Given the description of an element on the screen output the (x, y) to click on. 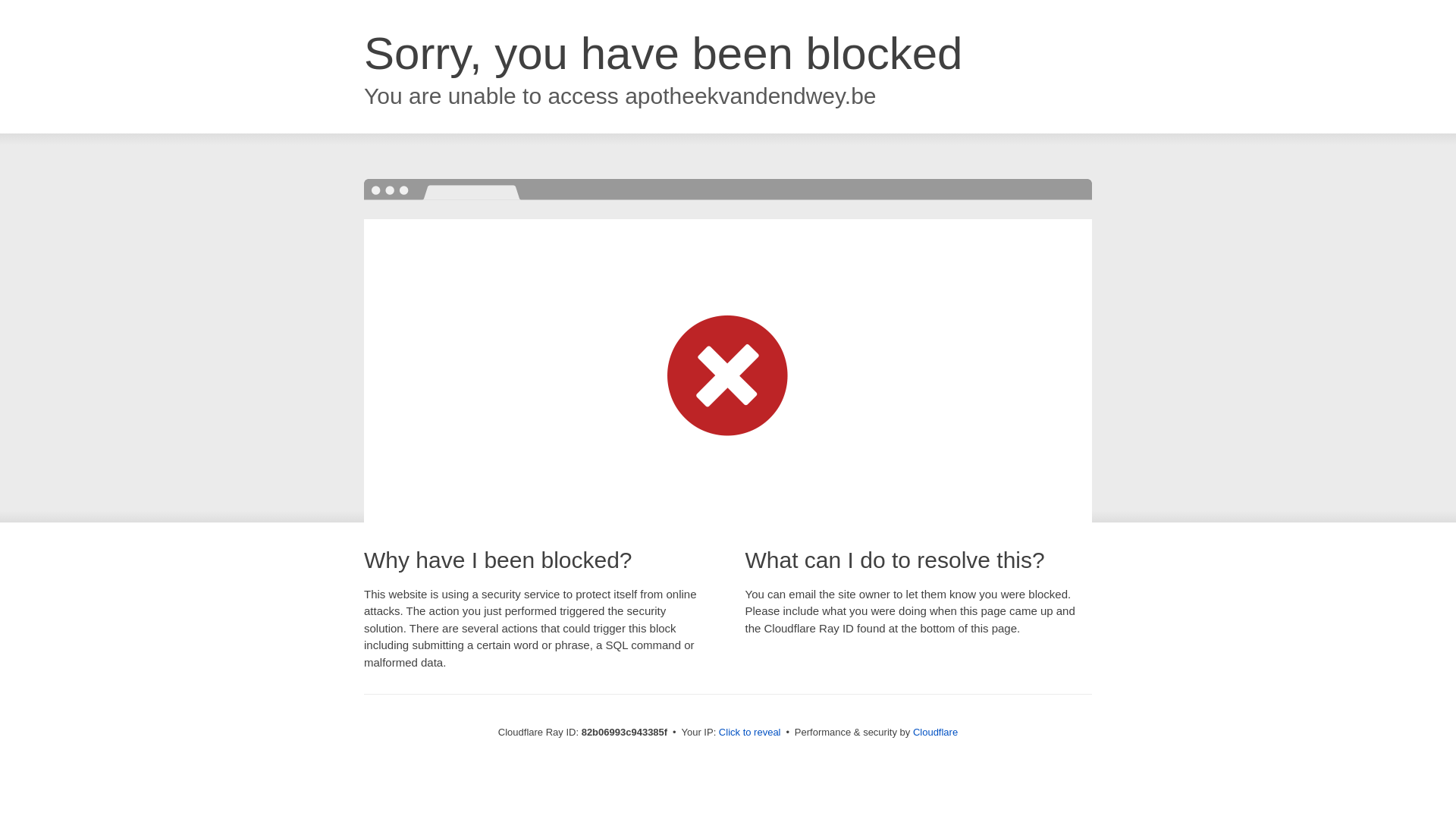
Click to reveal Element type: text (749, 732)
Cloudflare Element type: text (935, 731)
